Given the description of an element on the screen output the (x, y) to click on. 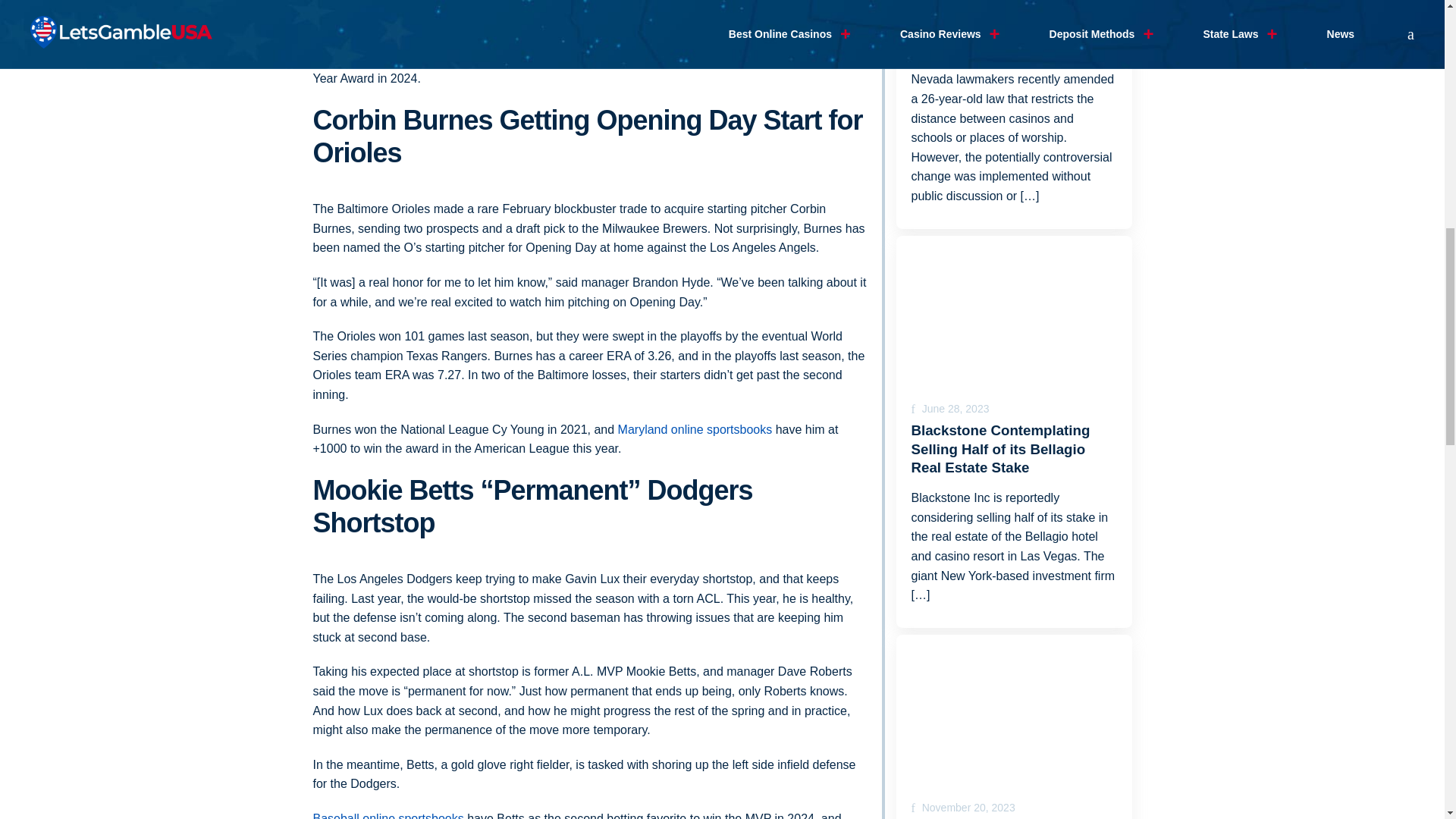
Maryland online sportsbooks (695, 429)
New York online sportsbooks (390, 59)
Baseball online sportsbooks (388, 815)
